Given the description of an element on the screen output the (x, y) to click on. 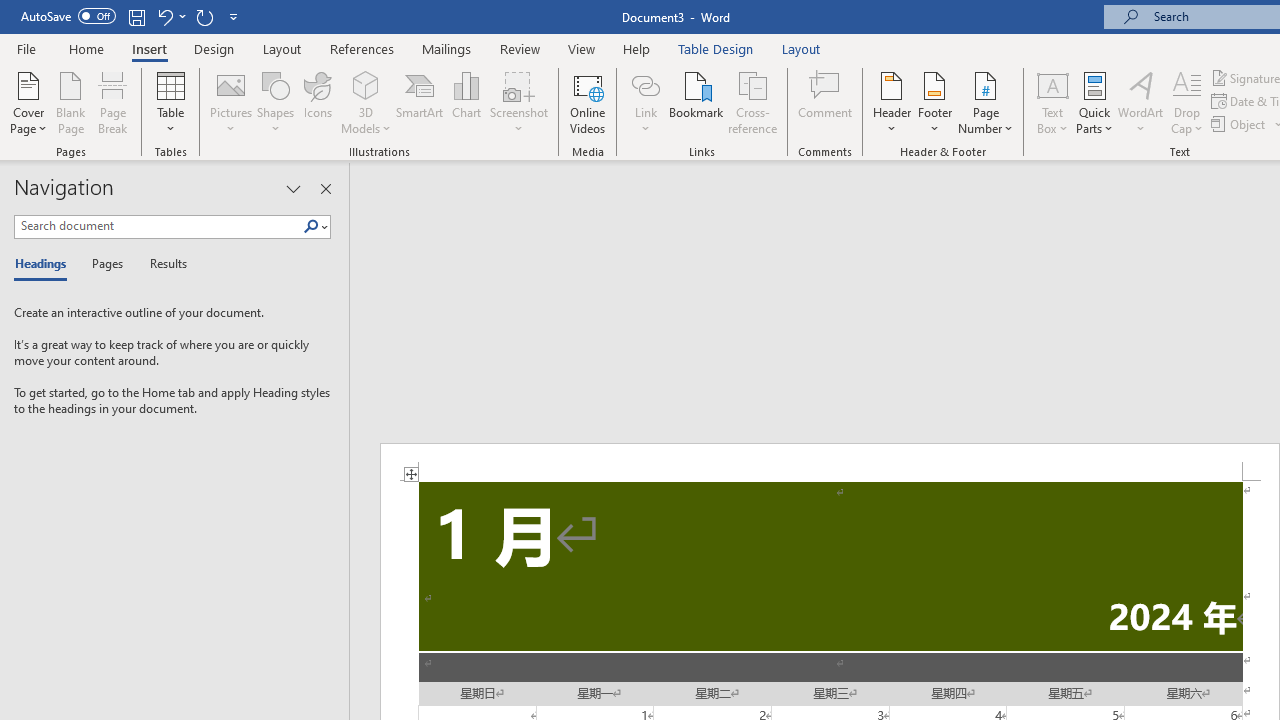
Link (645, 102)
SmartArt... (419, 102)
Table (170, 102)
Icons (317, 102)
3D Models (366, 102)
Bookmark... (695, 102)
Text Box (1052, 102)
